Given the description of an element on the screen output the (x, y) to click on. 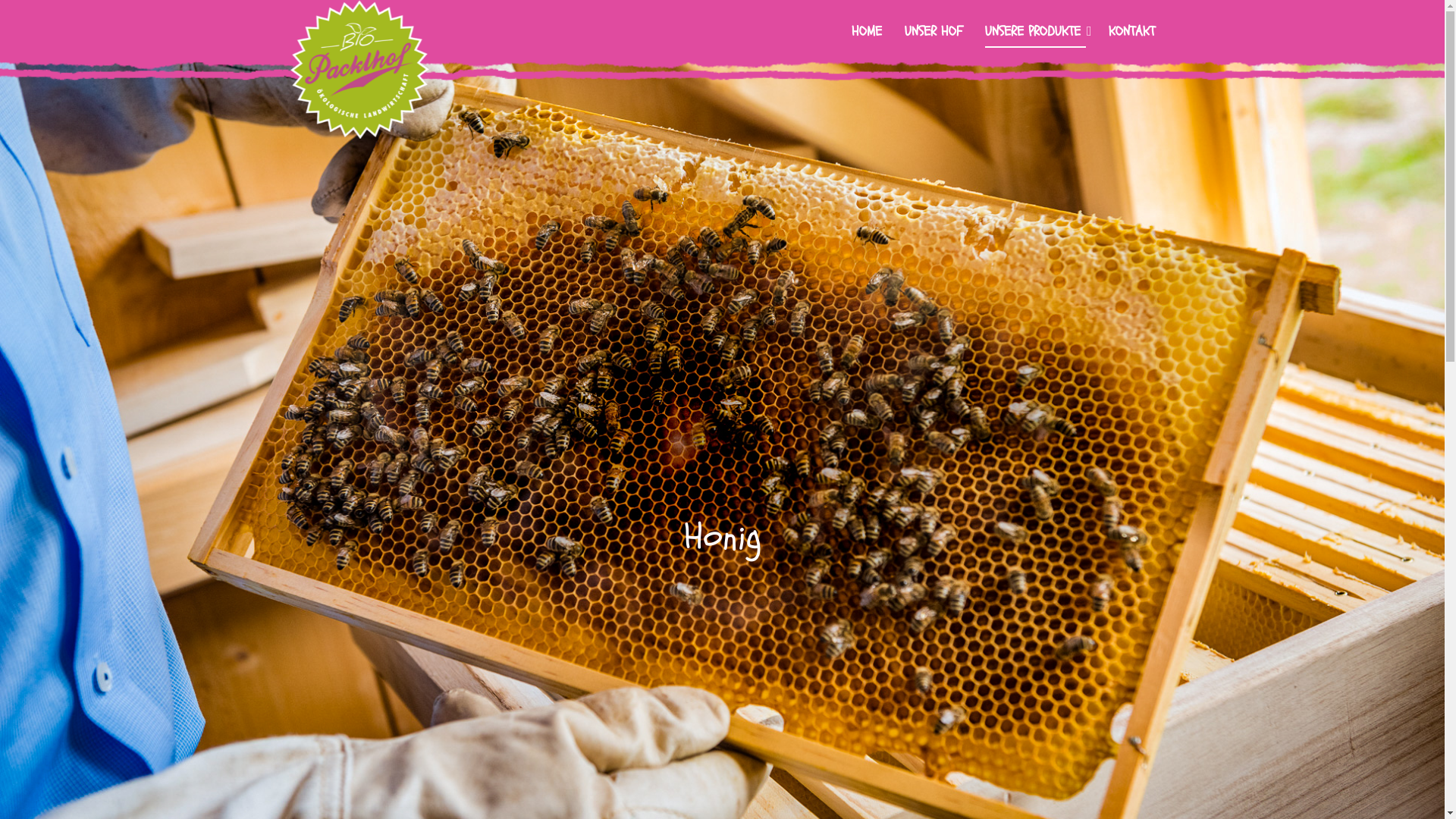
UNSER HOF Element type: text (933, 32)
UNSERE PRODUKTE Element type: text (1035, 32)
KONTAKT Element type: text (1131, 32)
HOME Element type: text (866, 32)
Home Element type: hover (358, 69)
